Given the description of an element on the screen output the (x, y) to click on. 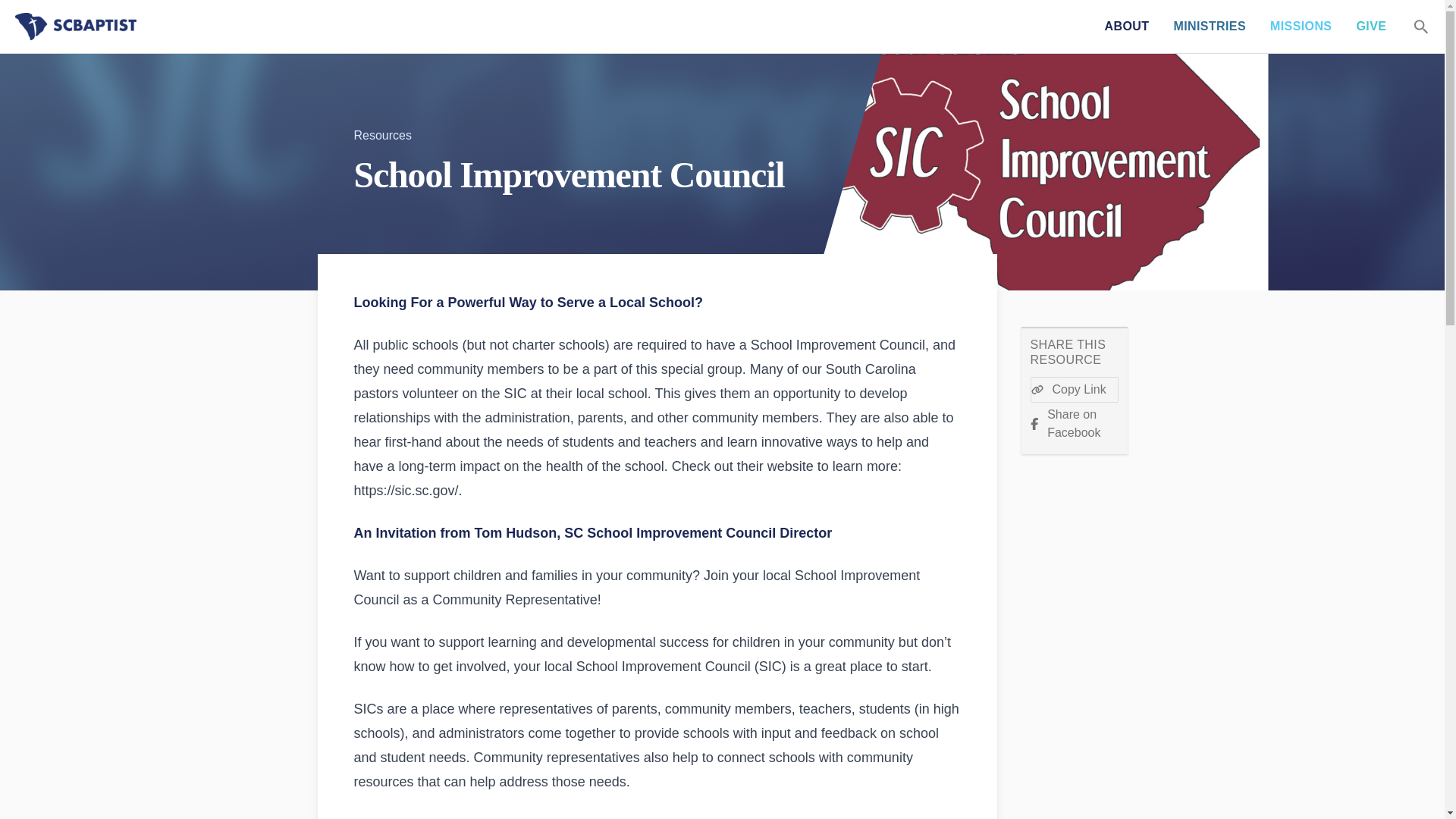
ABOUT (1127, 26)
